Given the description of an element on the screen output the (x, y) to click on. 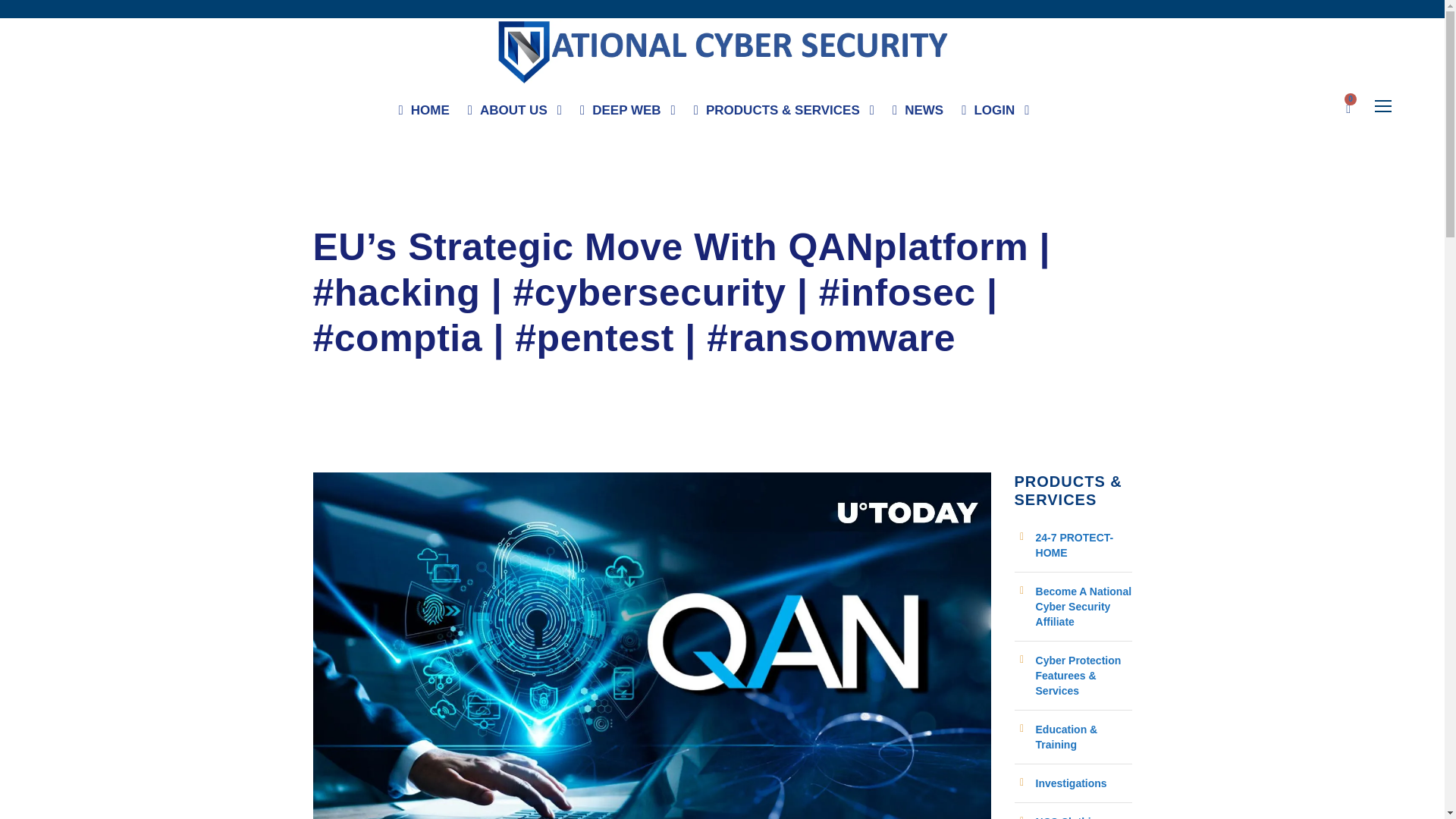
DEEP WEB (627, 114)
Posts by Natioinal Cyber Security Training Academy Corp (443, 211)
ABOUT US (514, 114)
HOME (423, 114)
